Given the description of an element on the screen output the (x, y) to click on. 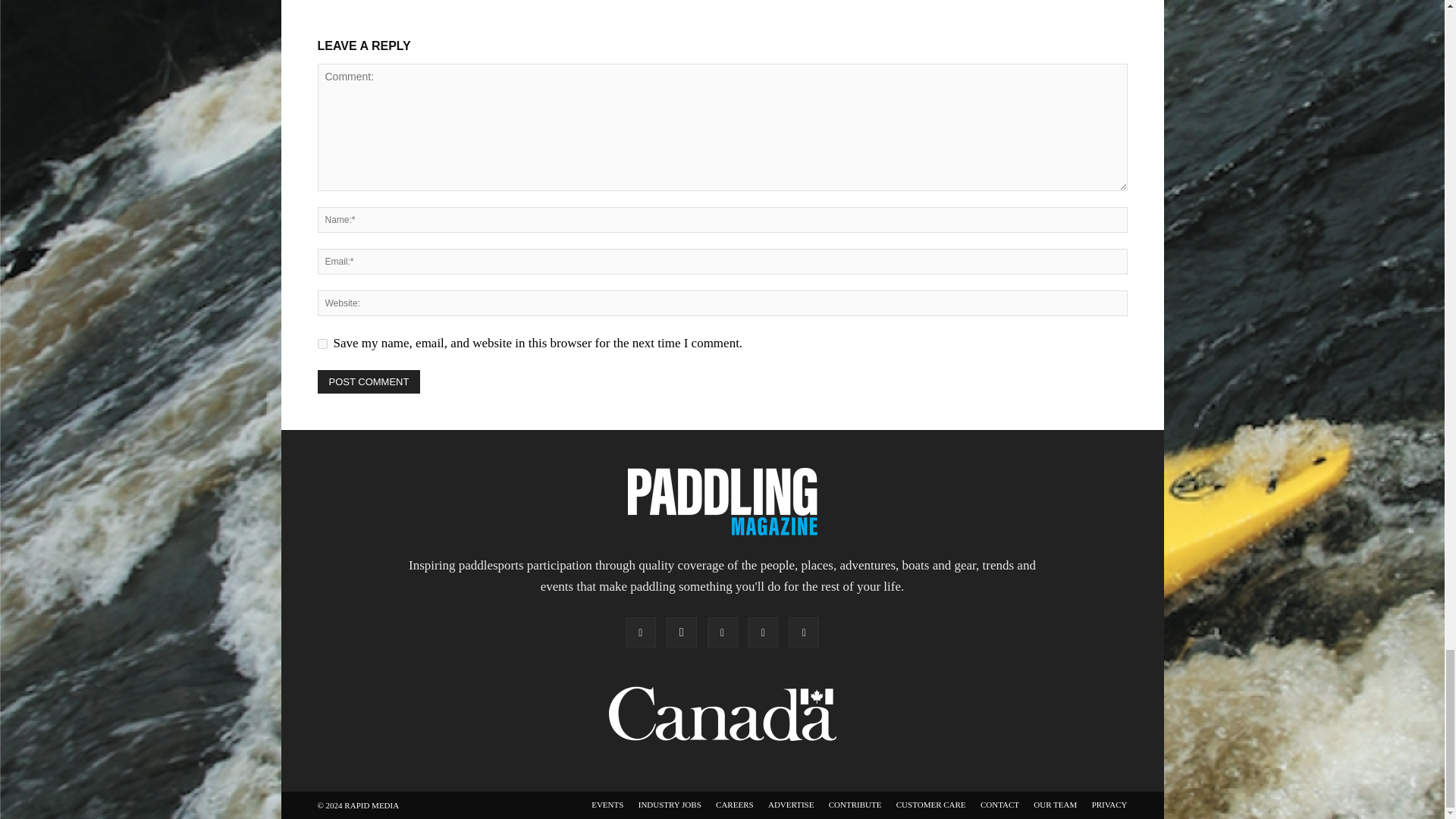
Post Comment (368, 381)
yes (321, 343)
